Given the description of an element on the screen output the (x, y) to click on. 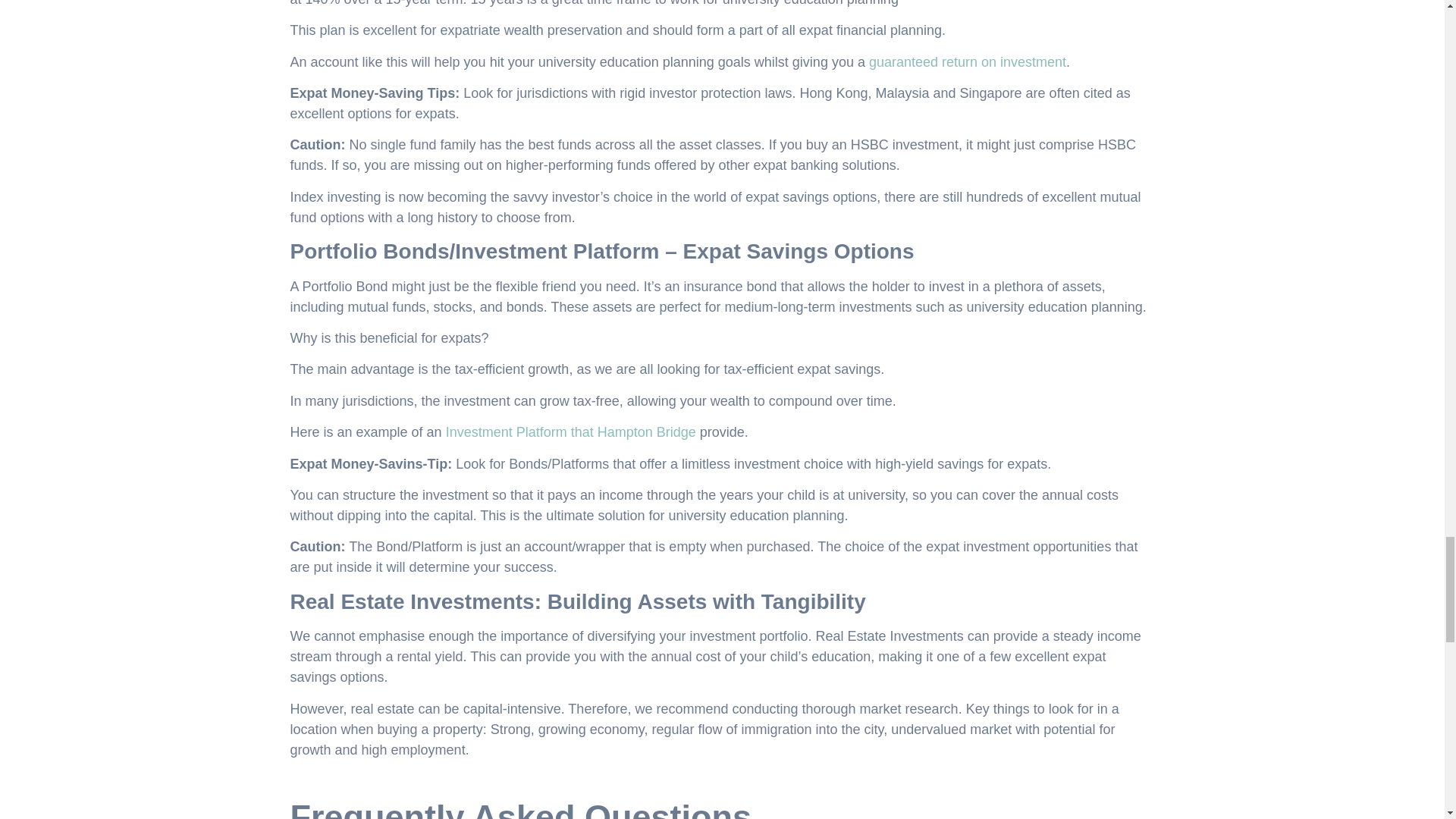
Investment Platform that Hampton Bridge (570, 432)
guaranteed return on investment (967, 61)
